Given the description of an element on the screen output the (x, y) to click on. 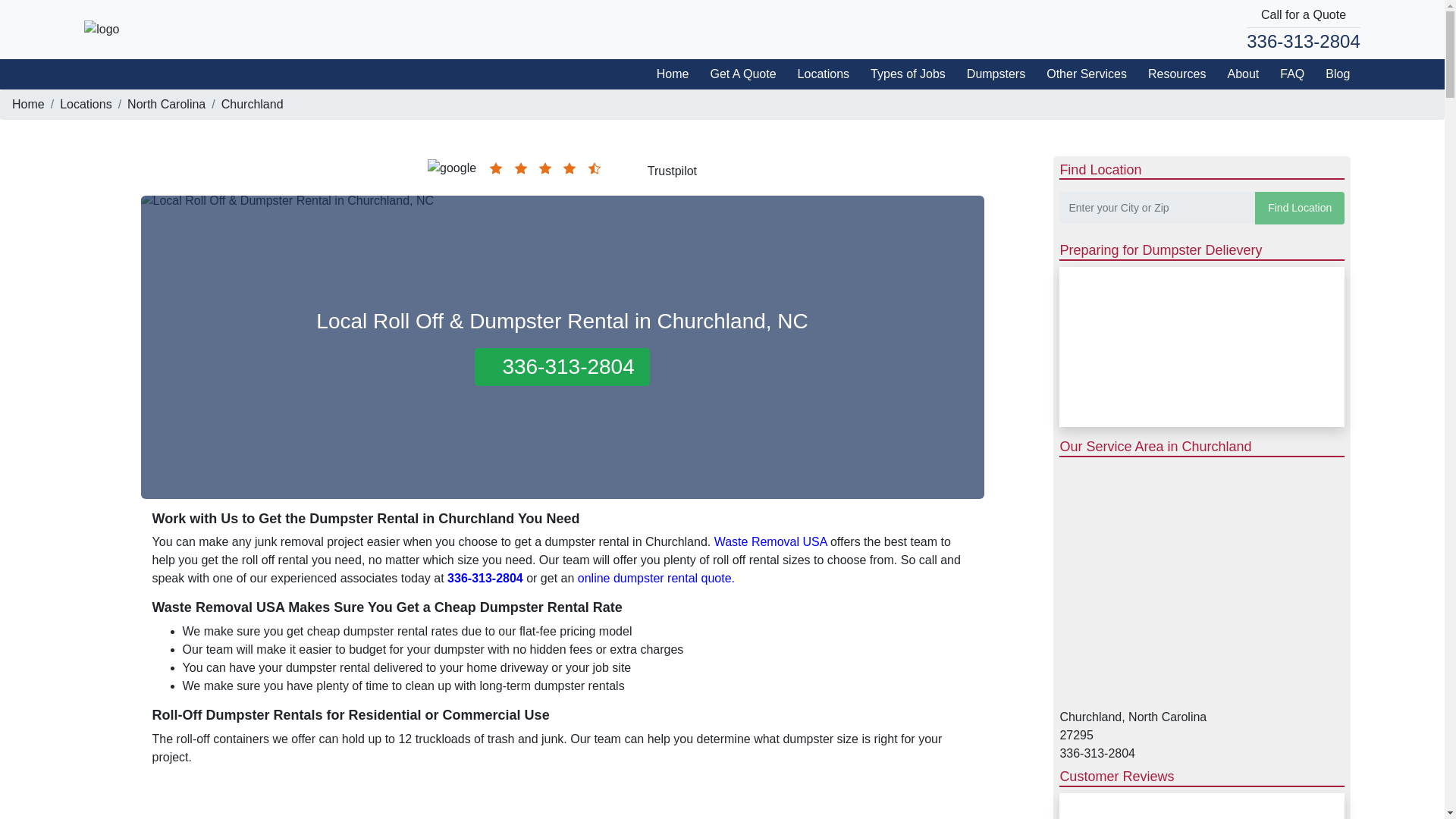
North Carolina (166, 103)
Resources (1171, 73)
Waste Removal USA (101, 29)
Locations (818, 73)
336-313-2804 (1302, 41)
Get A Quote (737, 73)
Find Location (1299, 207)
Waste Removal USA (770, 541)
Other Services (1080, 73)
Find Location (1299, 207)
Dumpsters (990, 73)
Blog (1331, 73)
About (1237, 73)
Locations (85, 103)
Home (667, 73)
